Given the description of an element on the screen output the (x, y) to click on. 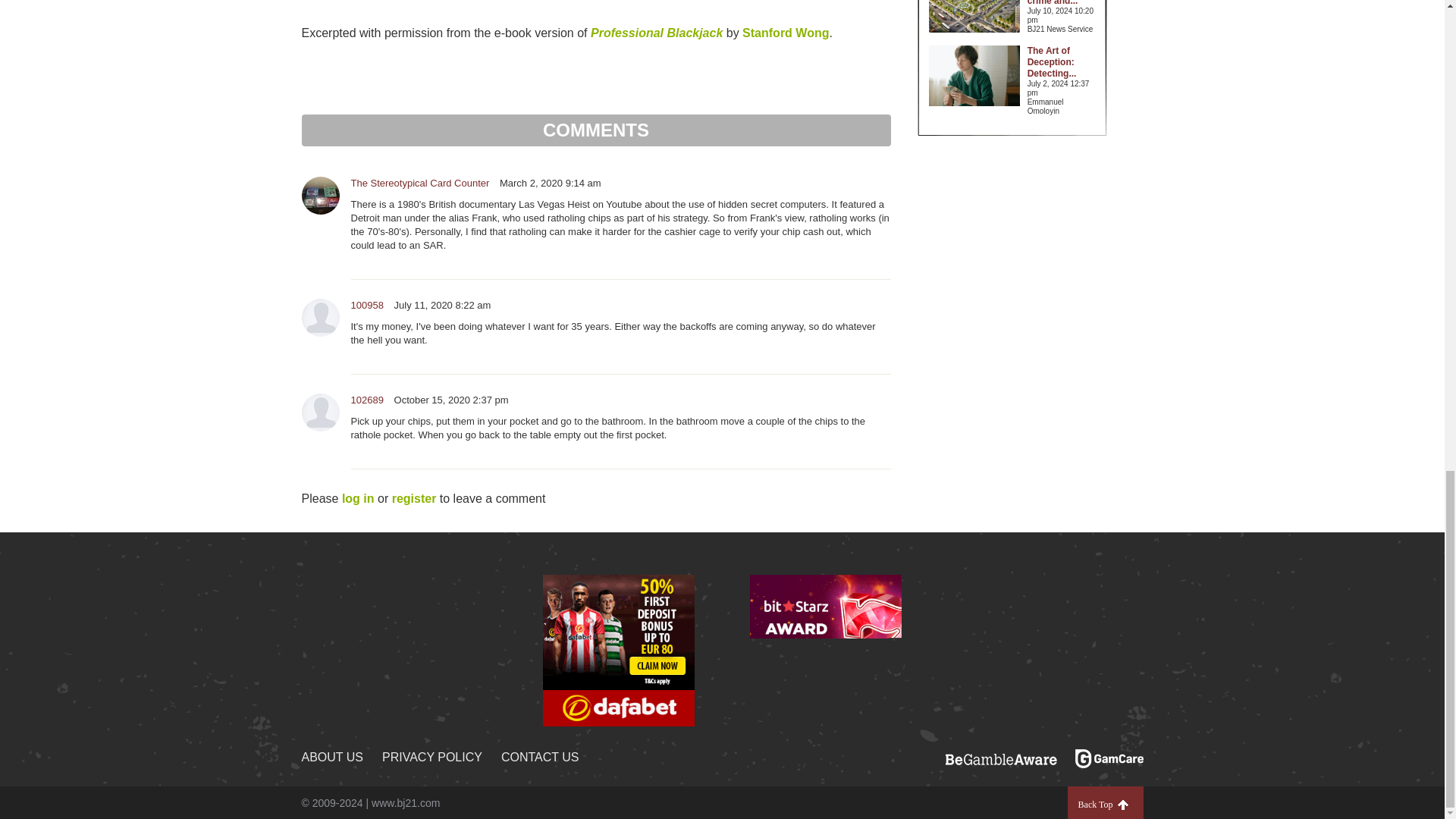
BJ21 News Service (1061, 29)
NYC casino developer on crime and traffic (1055, 2)
Emmanuel Omoloyin (1061, 106)
Visit BitStarz Casino (825, 649)
Visit Dafabet Casino (618, 649)
